Given the description of an element on the screen output the (x, y) to click on. 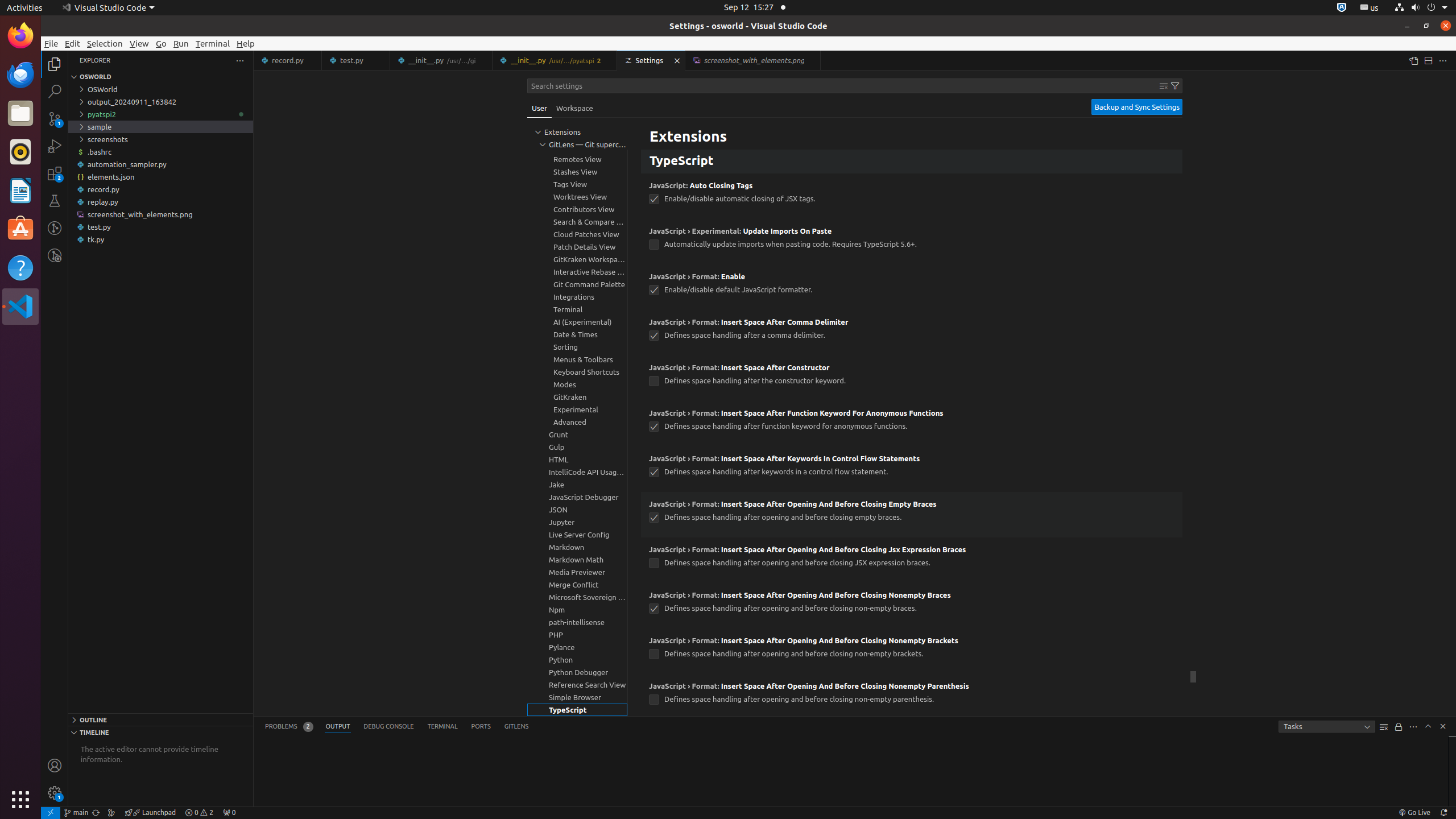
Hide Panel Element type: push-button (1442, 726)
Live Server Config, group Element type: tree-item (577, 534)
OSWorld (Git) - main, Checkout Branch/Tag... Element type: push-button (75, 812)
Close (Ctrl+W) Element type: push-button (812, 60)
record.py Element type: page-tab (287, 60)
